Given the description of an element on the screen output the (x, y) to click on. 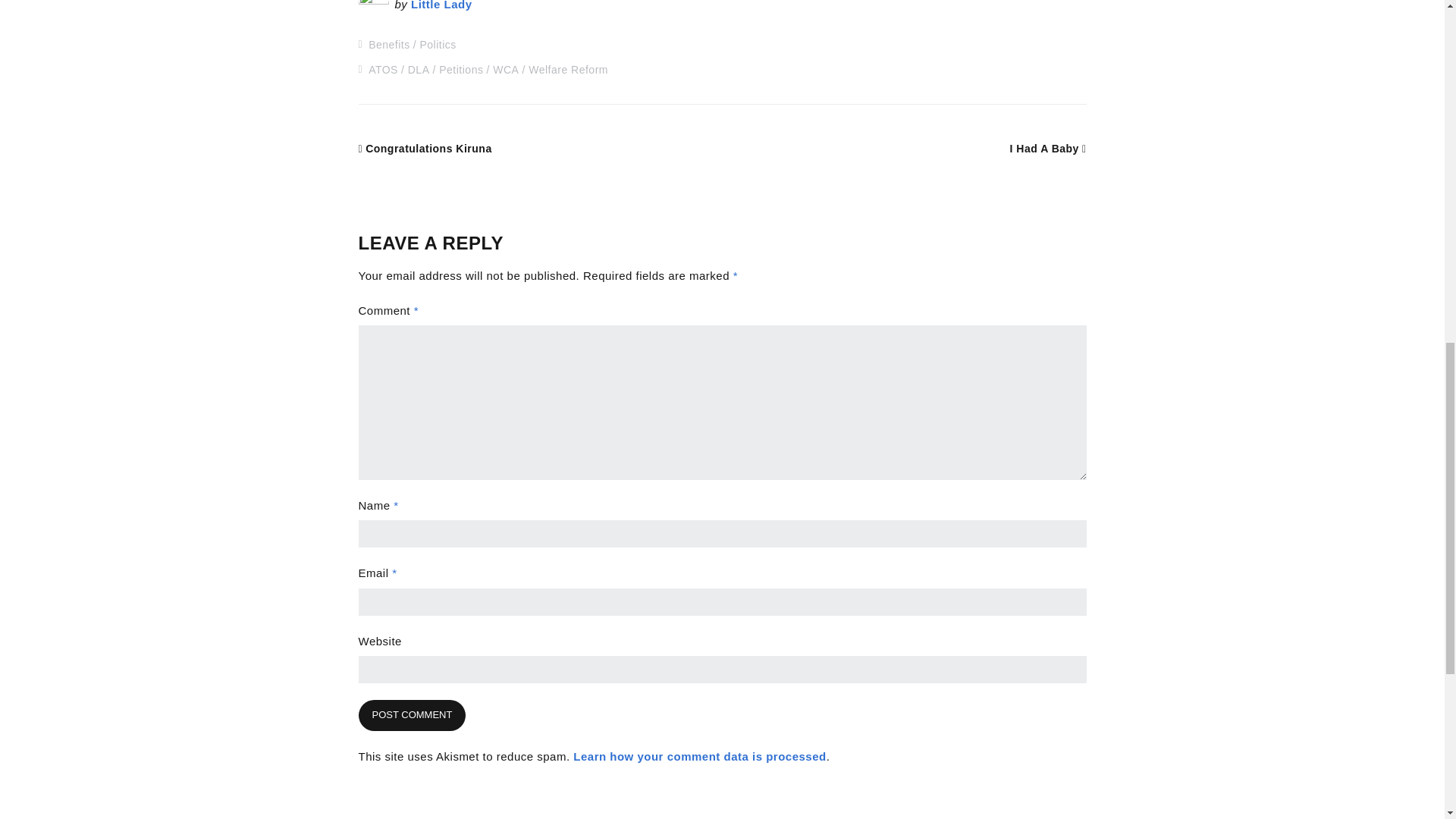
I Had A Baby (1048, 148)
DLA (418, 69)
Welfare Reform (568, 69)
Congratulations Kiruna (425, 148)
ATOS (382, 69)
Petitions (461, 69)
WCA (505, 69)
Little Lady (440, 5)
Learn how your comment data is processed (699, 756)
Benefits (389, 44)
Post Comment (411, 715)
Post Comment (411, 715)
Politics (438, 44)
